Given the description of an element on the screen output the (x, y) to click on. 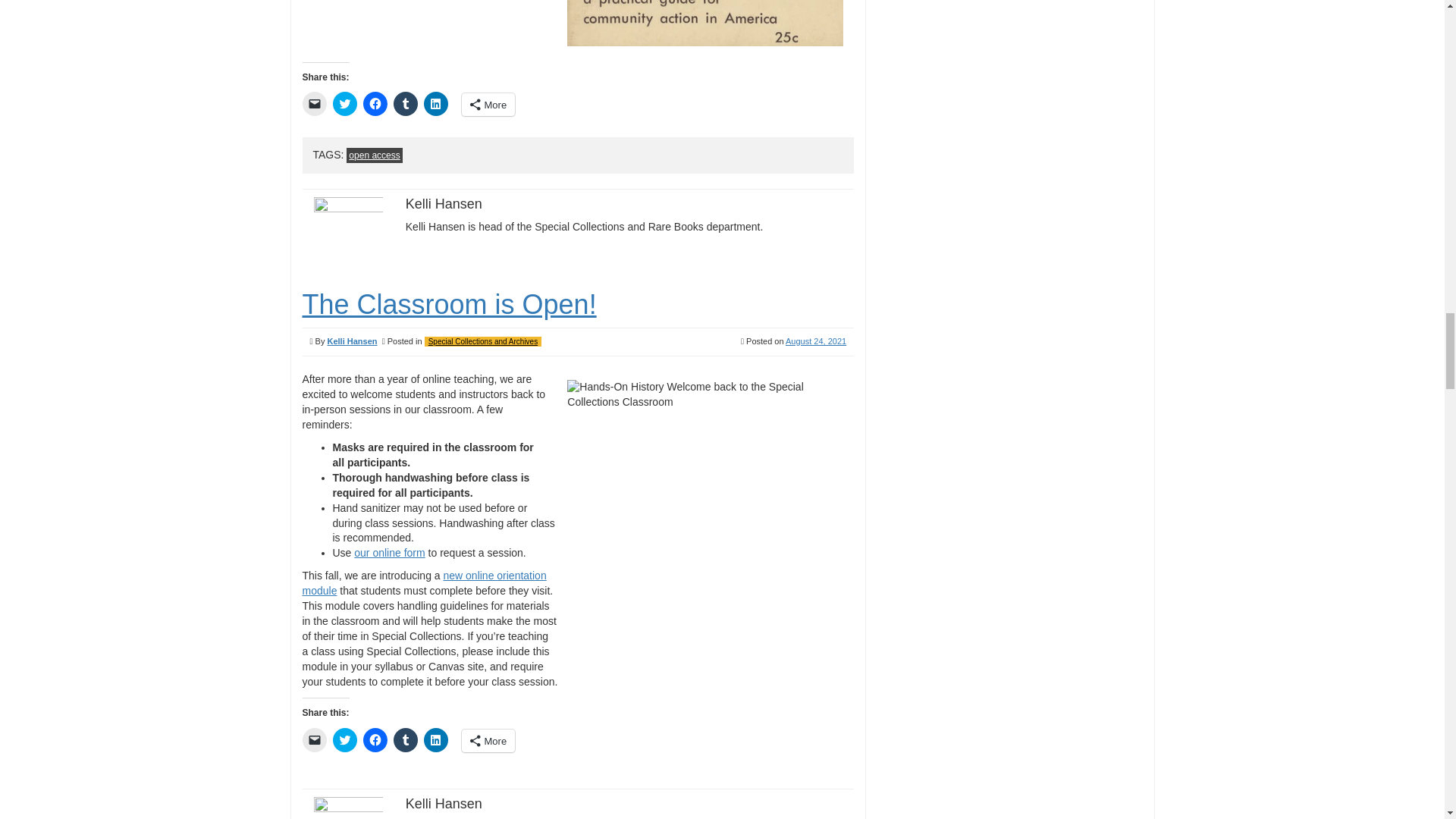
Click to email a link to a friend (313, 103)
Click to share on Facebook (374, 103)
Click to share on Twitter (343, 103)
